Given the description of an element on the screen output the (x, y) to click on. 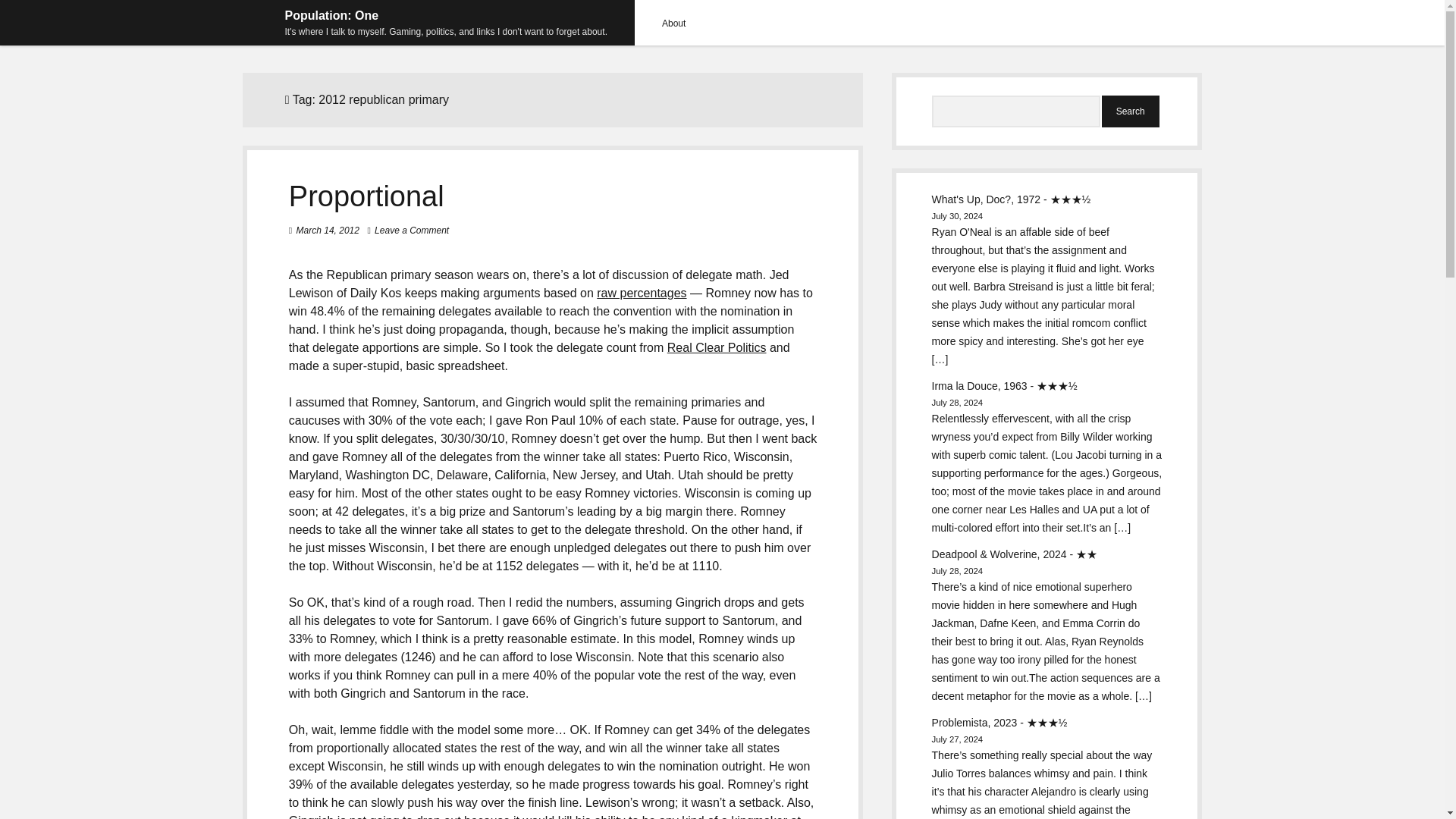
March 14, 2012 (328, 230)
Search (1130, 111)
Population: One (331, 15)
Search for: (1015, 111)
About (673, 23)
Real Clear Politics (716, 347)
Search (1130, 111)
raw percentages (640, 292)
Proportional (366, 196)
Leave a Comment (411, 230)
Search (1130, 111)
